Given the description of an element on the screen output the (x, y) to click on. 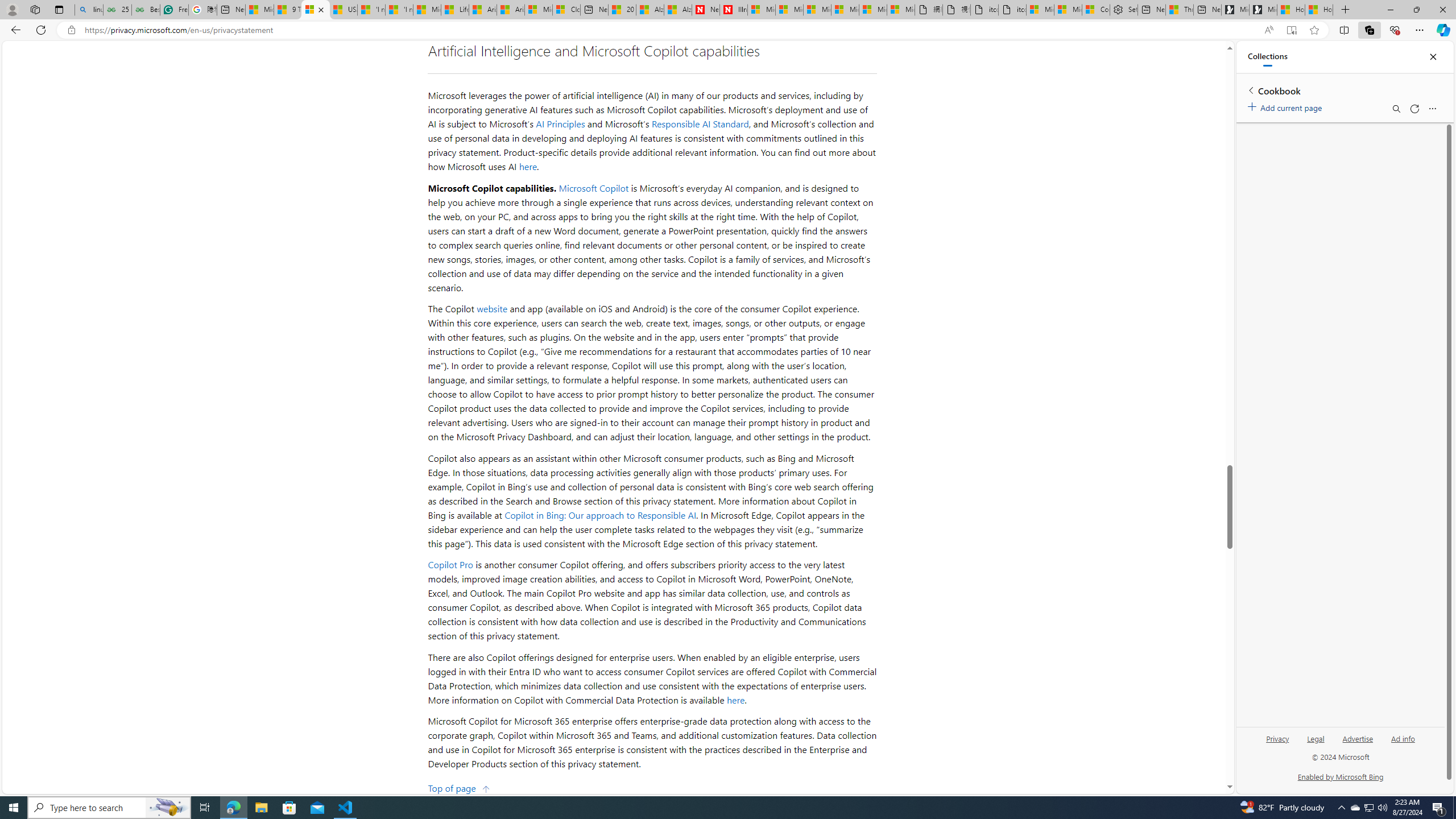
Three Ways To Stop Sweating So Much (1179, 9)
Best SSL Certificates Provider in India - GeeksforGeeks (145, 9)
Newsweek - News, Analysis, Politics, Business, Technology (706, 9)
How to Use a TV as a Computer Monitor (1319, 9)
More options menu (1432, 108)
25 Basic Linux Commands For Beginners - GeeksforGeeks (117, 9)
Lifestyle - MSN (454, 9)
website (492, 308)
